Given the description of an element on the screen output the (x, y) to click on. 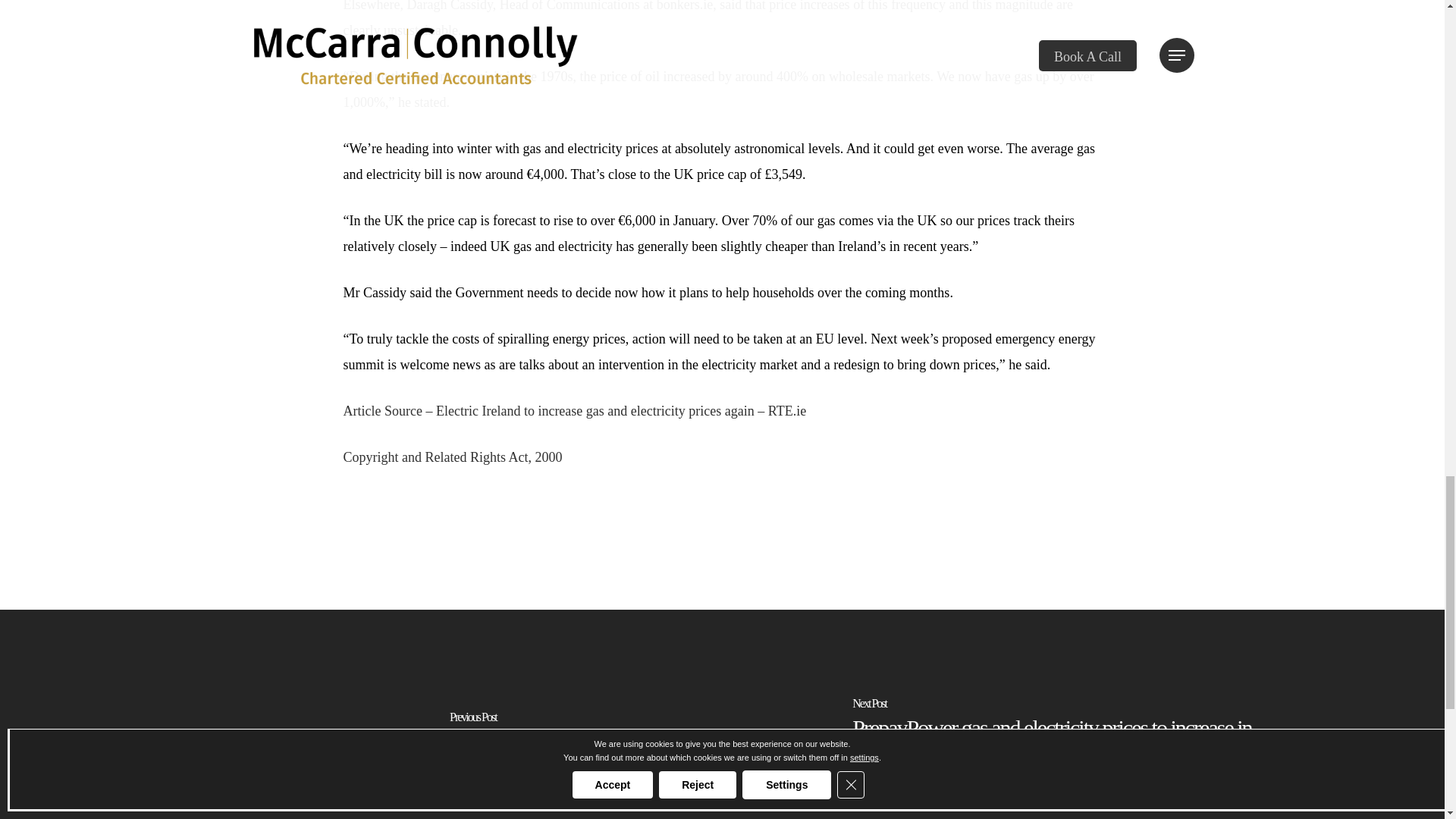
Copyright and Related Rights Act, 2000 (452, 457)
